Given the description of an element on the screen output the (x, y) to click on. 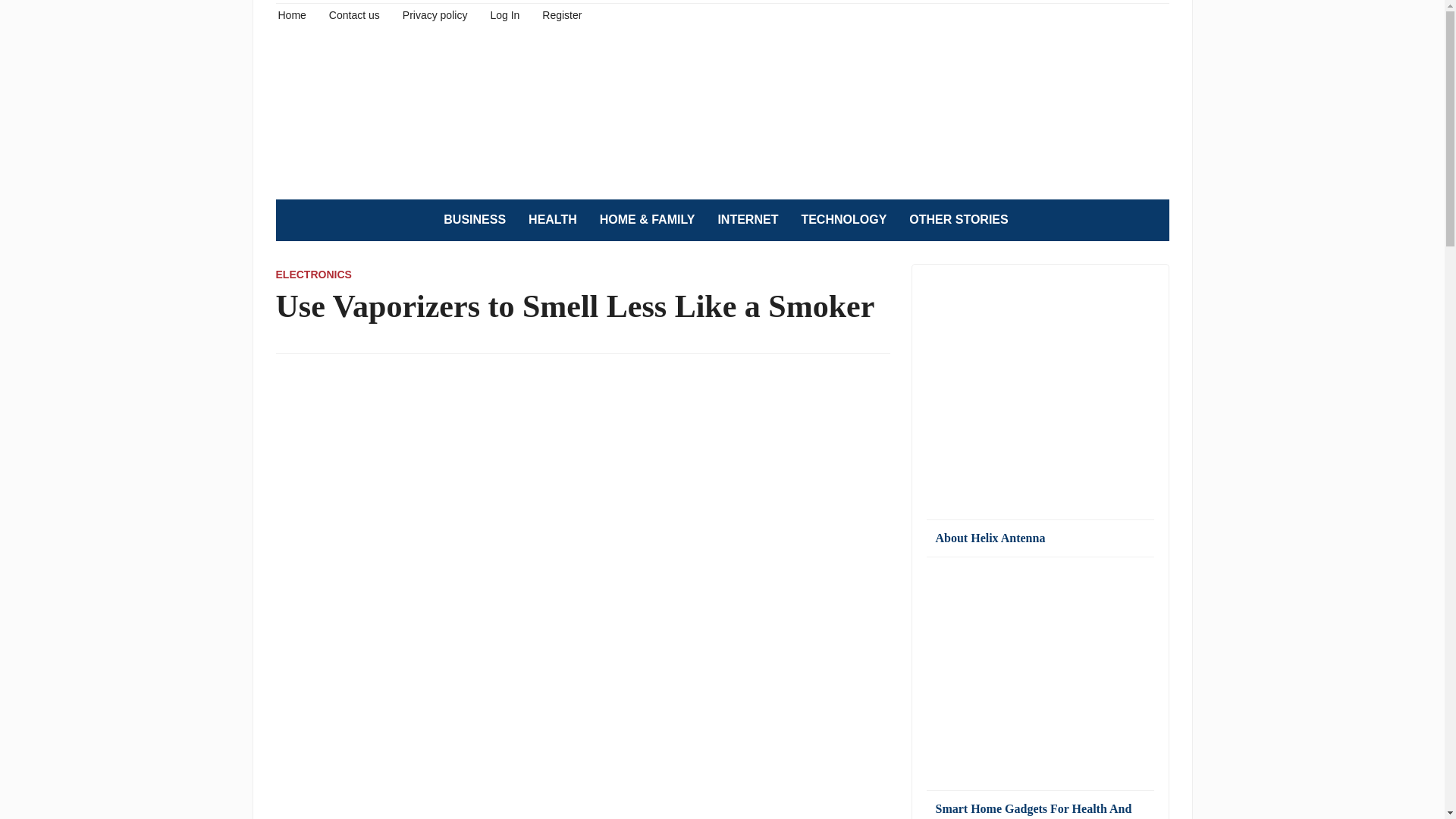
Log In (504, 14)
Search (1149, 219)
Register (560, 14)
Home (291, 14)
Privacy policy (435, 14)
Contact us (354, 14)
